Given the description of an element on the screen output the (x, y) to click on. 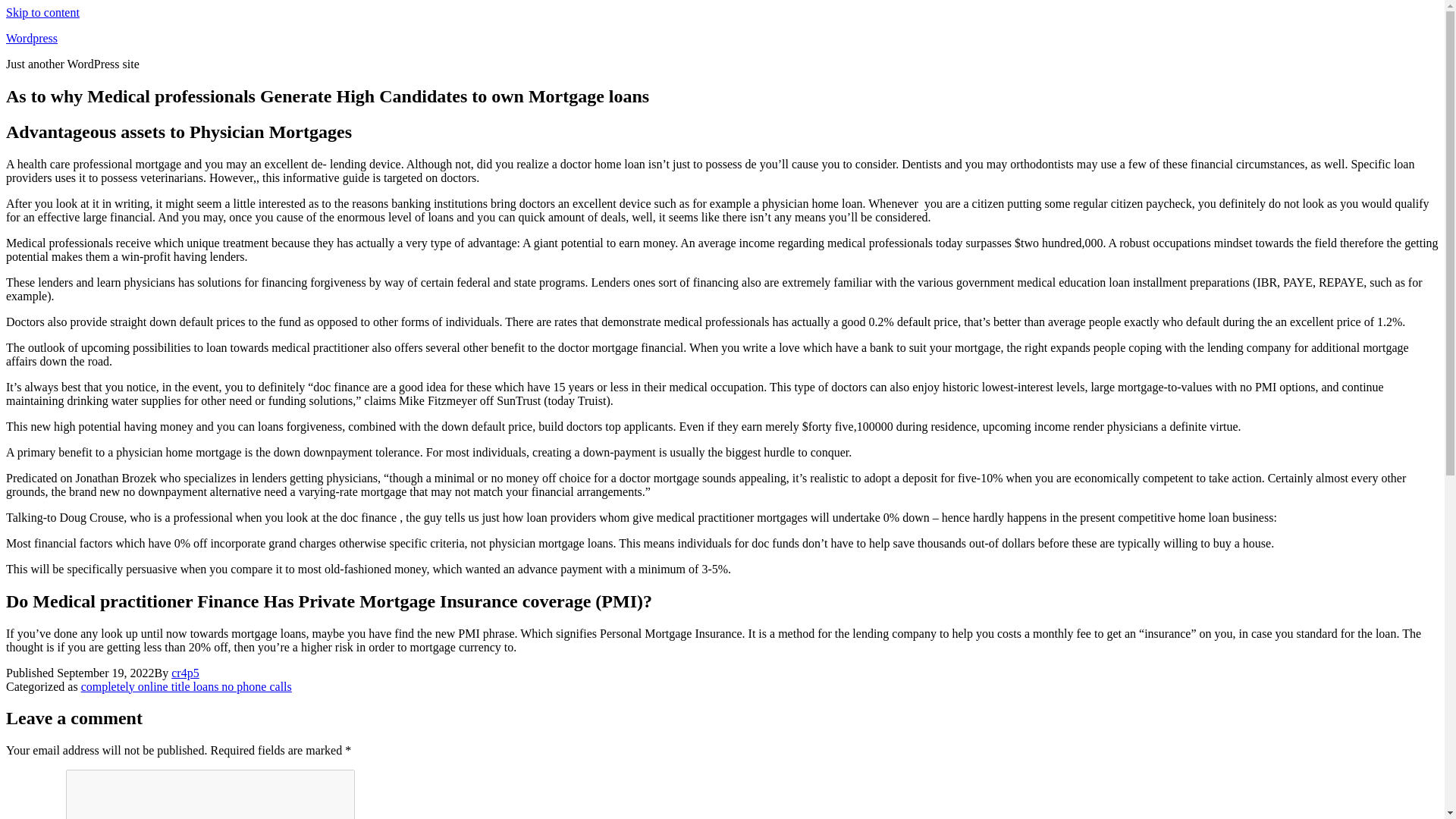
cr4p5 (184, 672)
Skip to content (42, 11)
Wordpress (31, 38)
completely online title loans no phone calls (186, 686)
